Given the description of an element on the screen output the (x, y) to click on. 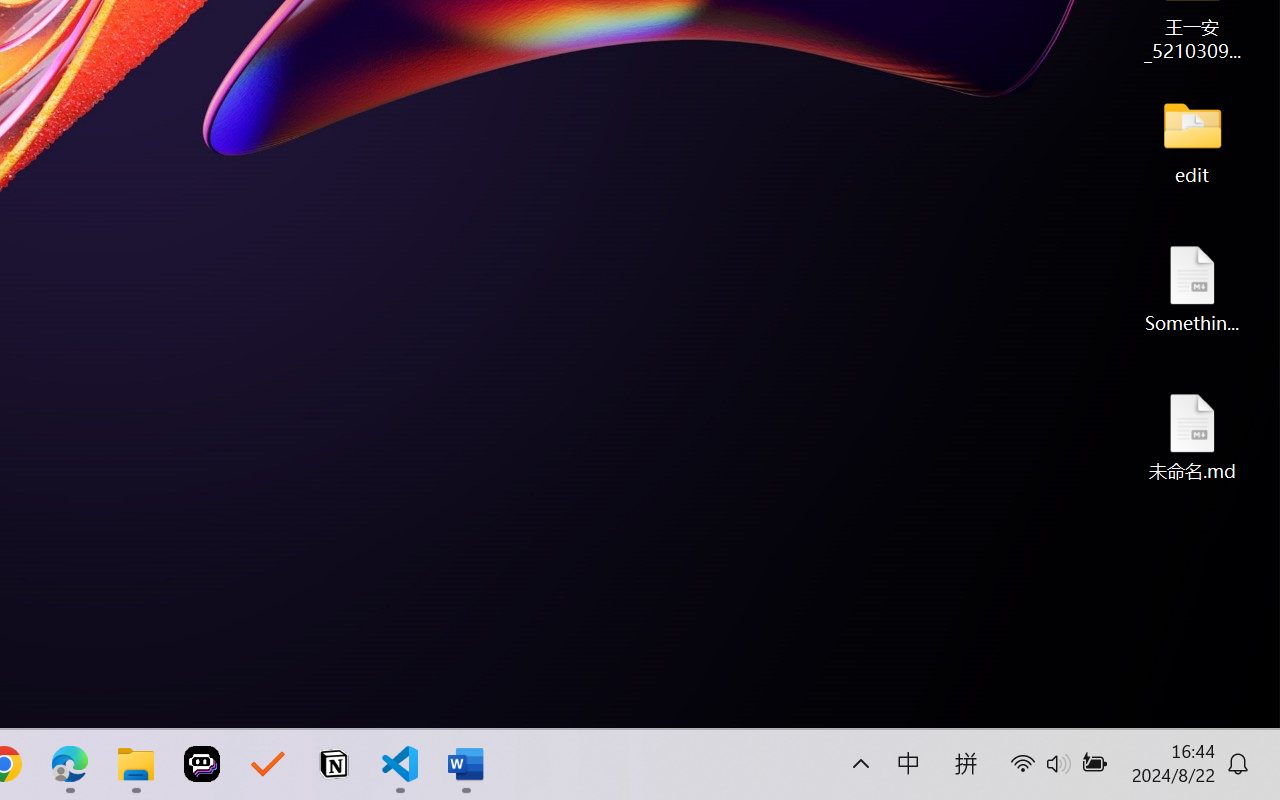
Something.md (1192, 288)
edit (1192, 140)
